Given the description of an element on the screen output the (x, y) to click on. 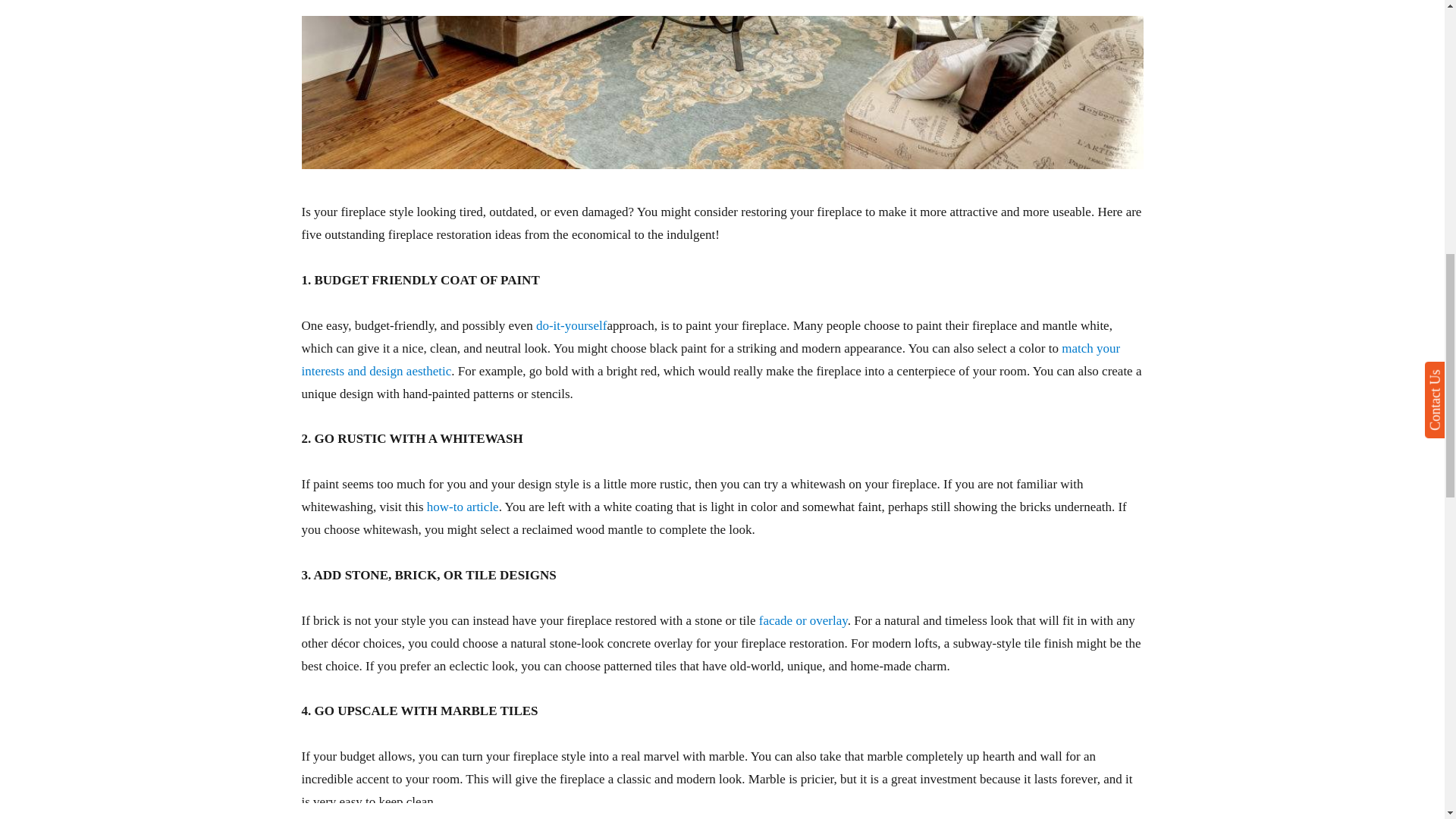
do-it-yourself (571, 325)
how-to article (462, 506)
facade or overlay (802, 620)
match your interests and design aesthetic (711, 359)
